Given the description of an element on the screen output the (x, y) to click on. 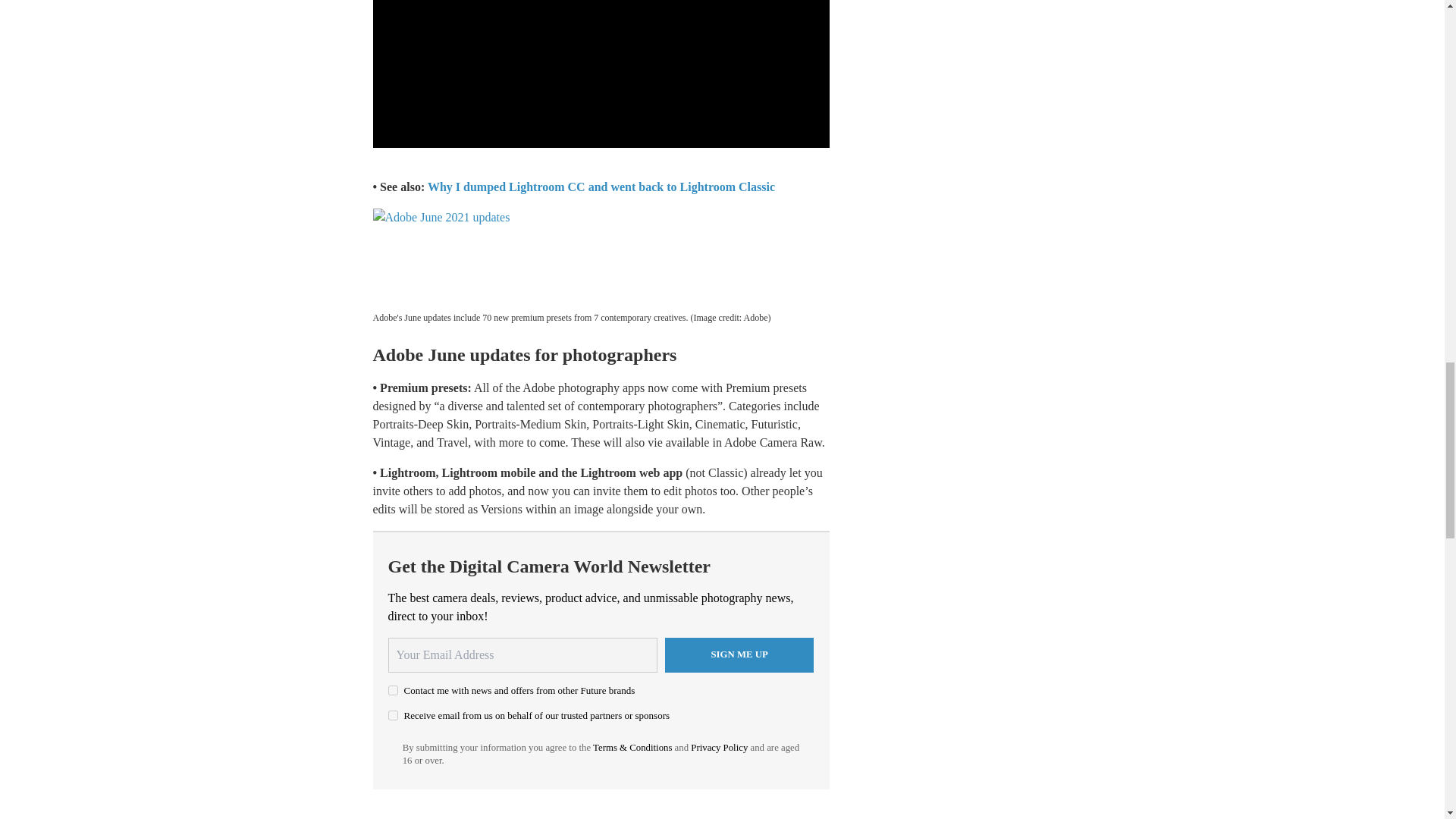
on (392, 715)
on (392, 690)
Sign me up (739, 655)
